Given the description of an element on the screen output the (x, y) to click on. 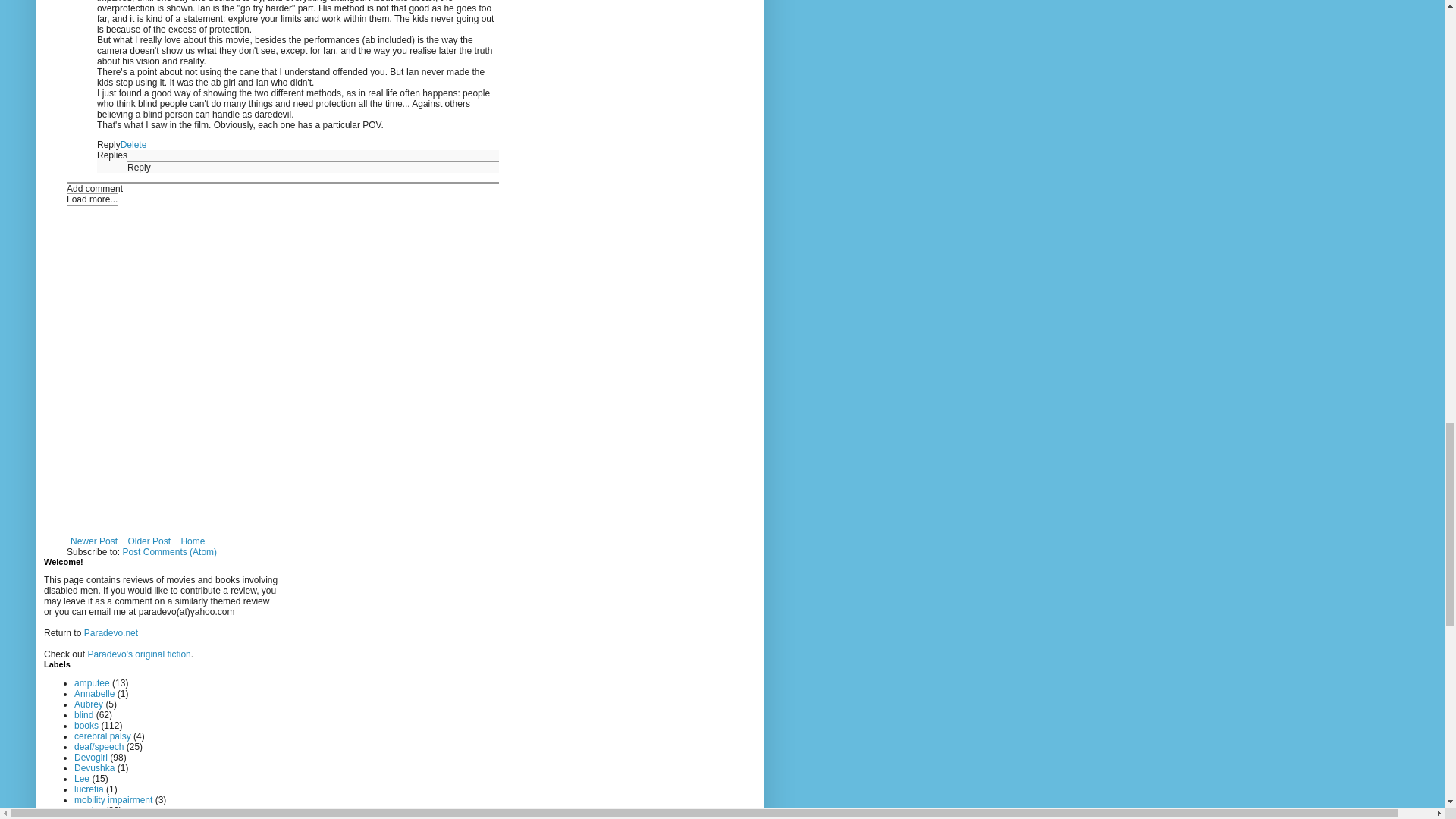
Delete (133, 144)
Paradevo's original fiction (138, 654)
Aubrey (88, 704)
Older Post (148, 541)
Home (192, 541)
amputee (92, 683)
Paradevo.net (111, 633)
Older Post (148, 541)
blind (83, 715)
Newer Post (93, 541)
Reply (108, 144)
Annabelle (94, 693)
Devushka (94, 767)
Add comment (94, 188)
Replies (112, 154)
